Given the description of an element on the screen output the (x, y) to click on. 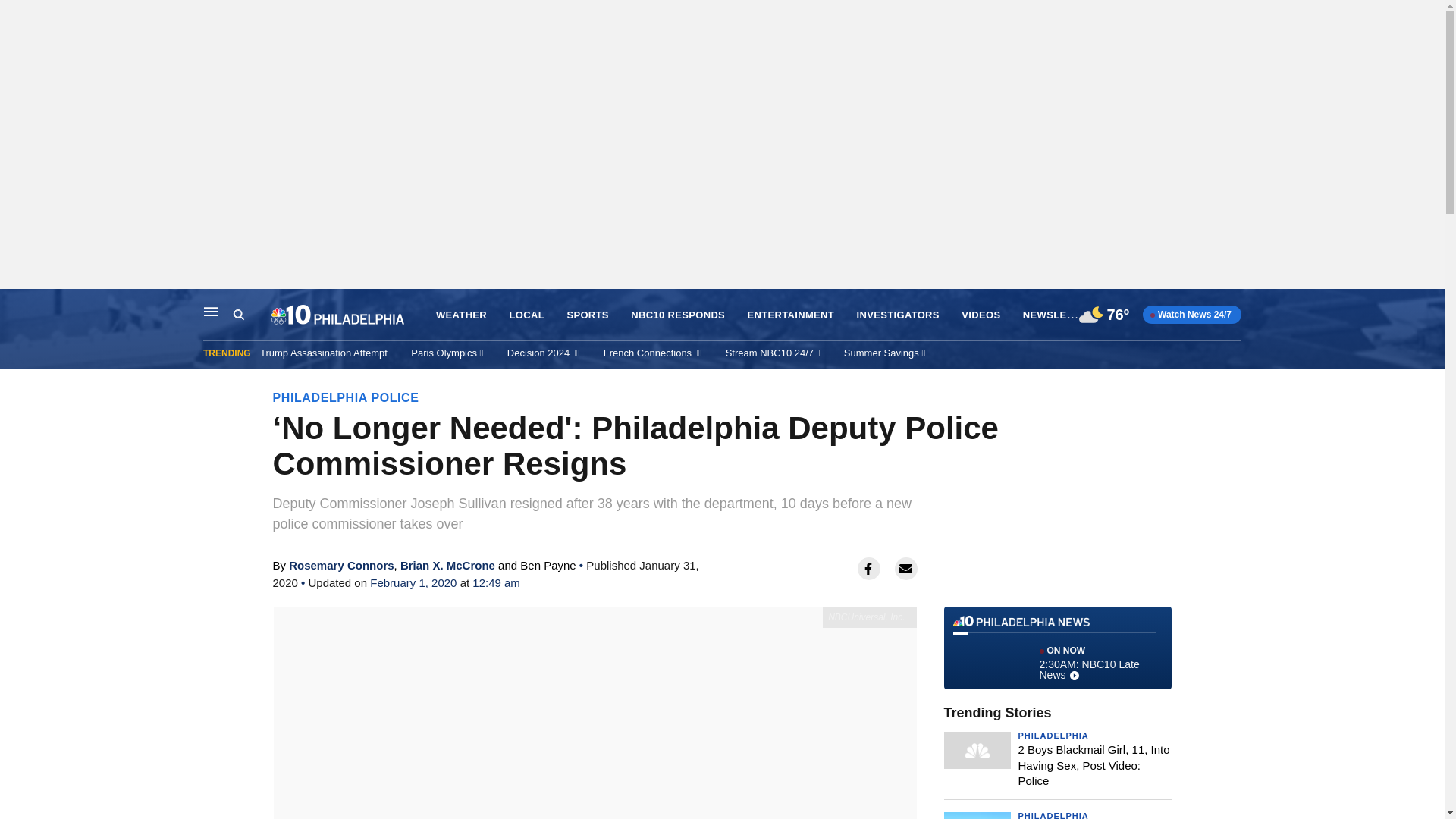
ENTERTAINMENT (791, 315)
NBC10 RESPONDS (677, 315)
Trump Assassination Attempt (323, 352)
Skip to content (16, 304)
Brian X. McCrone (447, 564)
INVESTIGATORS (898, 315)
Search (238, 314)
Rosemary Connors (340, 564)
PHILADELPHIA POLICE (346, 397)
SPORTS (587, 315)
Main Navigation (210, 311)
LOCAL (526, 315)
Search (252, 314)
VIDEOS (980, 315)
WEATHER (460, 315)
